Given the description of an element on the screen output the (x, y) to click on. 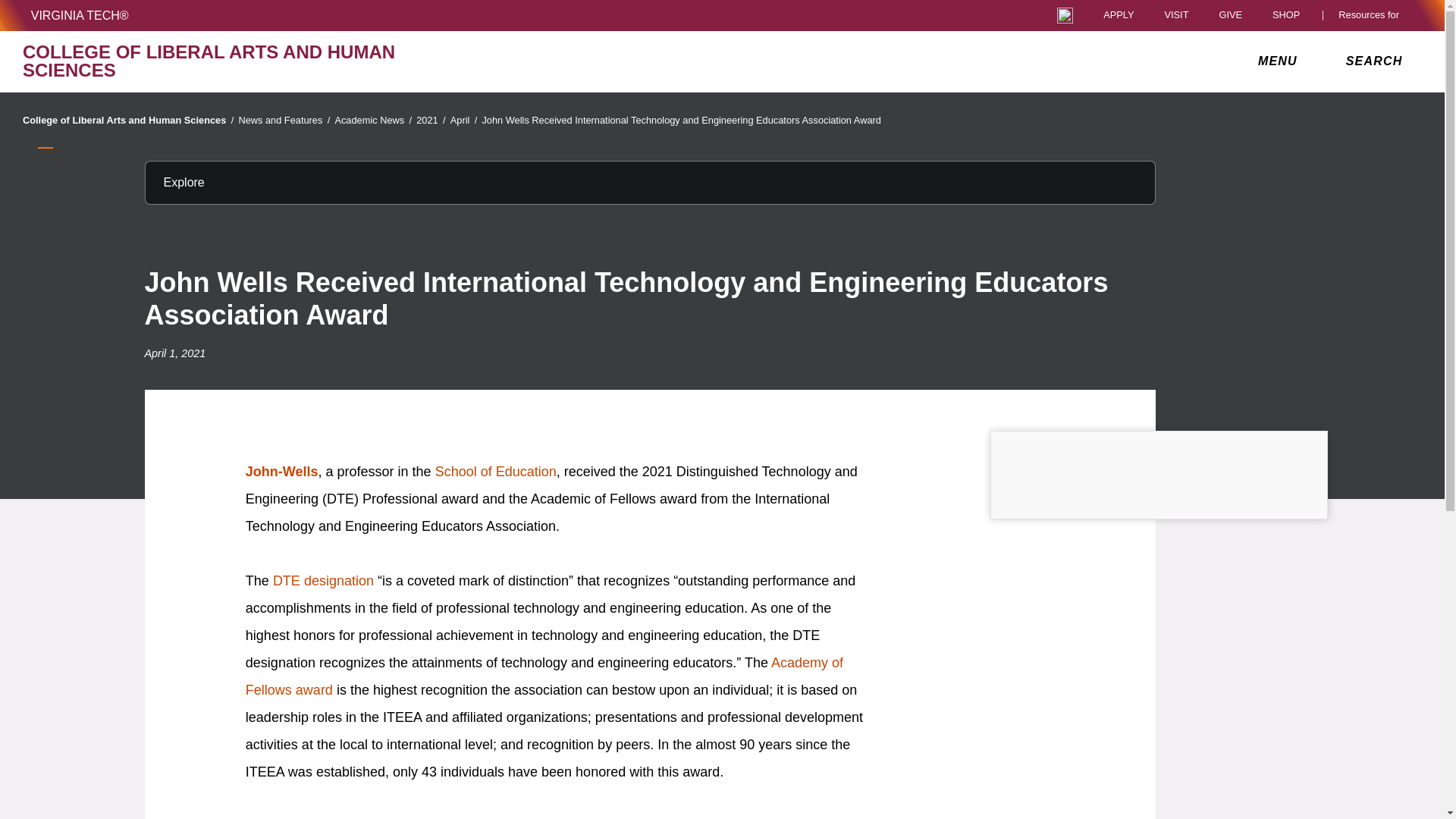
Resources for (1372, 15)
APPLY (1118, 15)
VISIT (1175, 15)
SHOP (1289, 15)
COLLEGE OF LIBERAL ARTS AND HUMAN SCIENCES (250, 60)
MENU (1280, 61)
Universal Access Toggle (1065, 15)
GIVE (1229, 15)
